Given the description of an element on the screen output the (x, y) to click on. 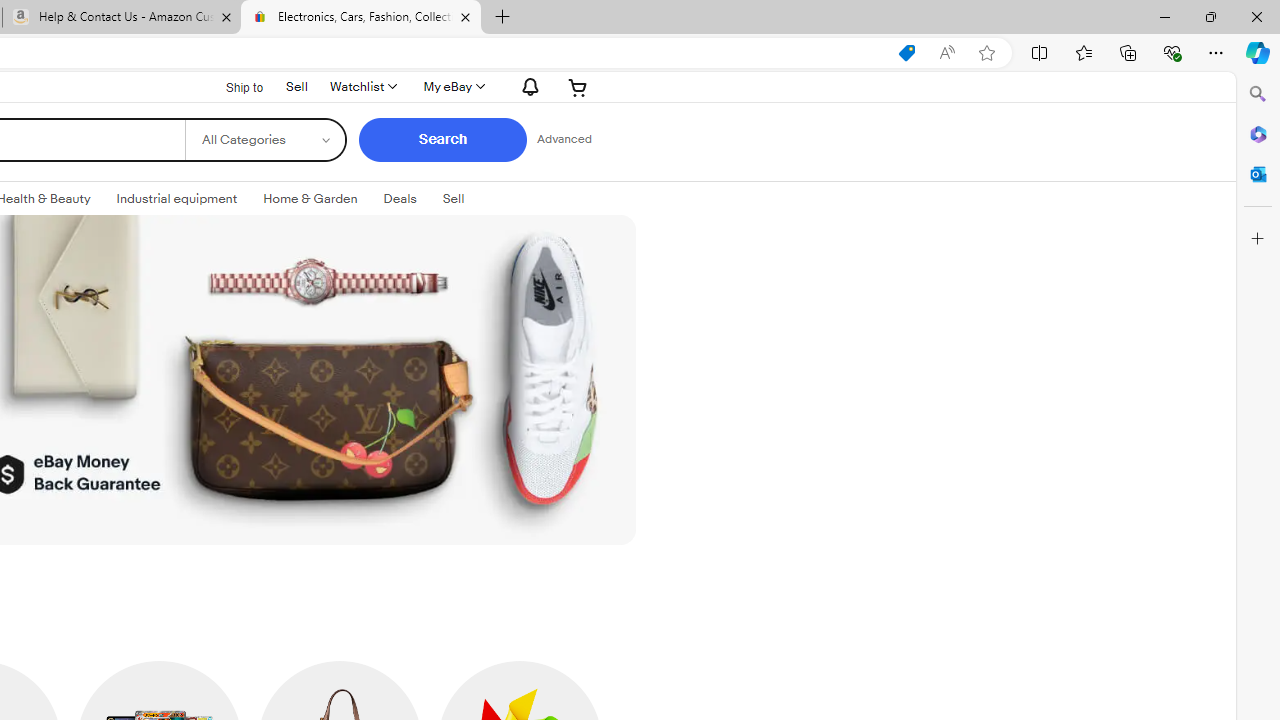
My eBayExpand My eBay (453, 86)
AutomationID: gh-eb-Alerts (527, 86)
Watchlist (362, 86)
Select a category for search (264, 139)
Ship to (231, 87)
Home & Garden (310, 198)
SellExpand: Sell (452, 199)
